Given the description of an element on the screen output the (x, y) to click on. 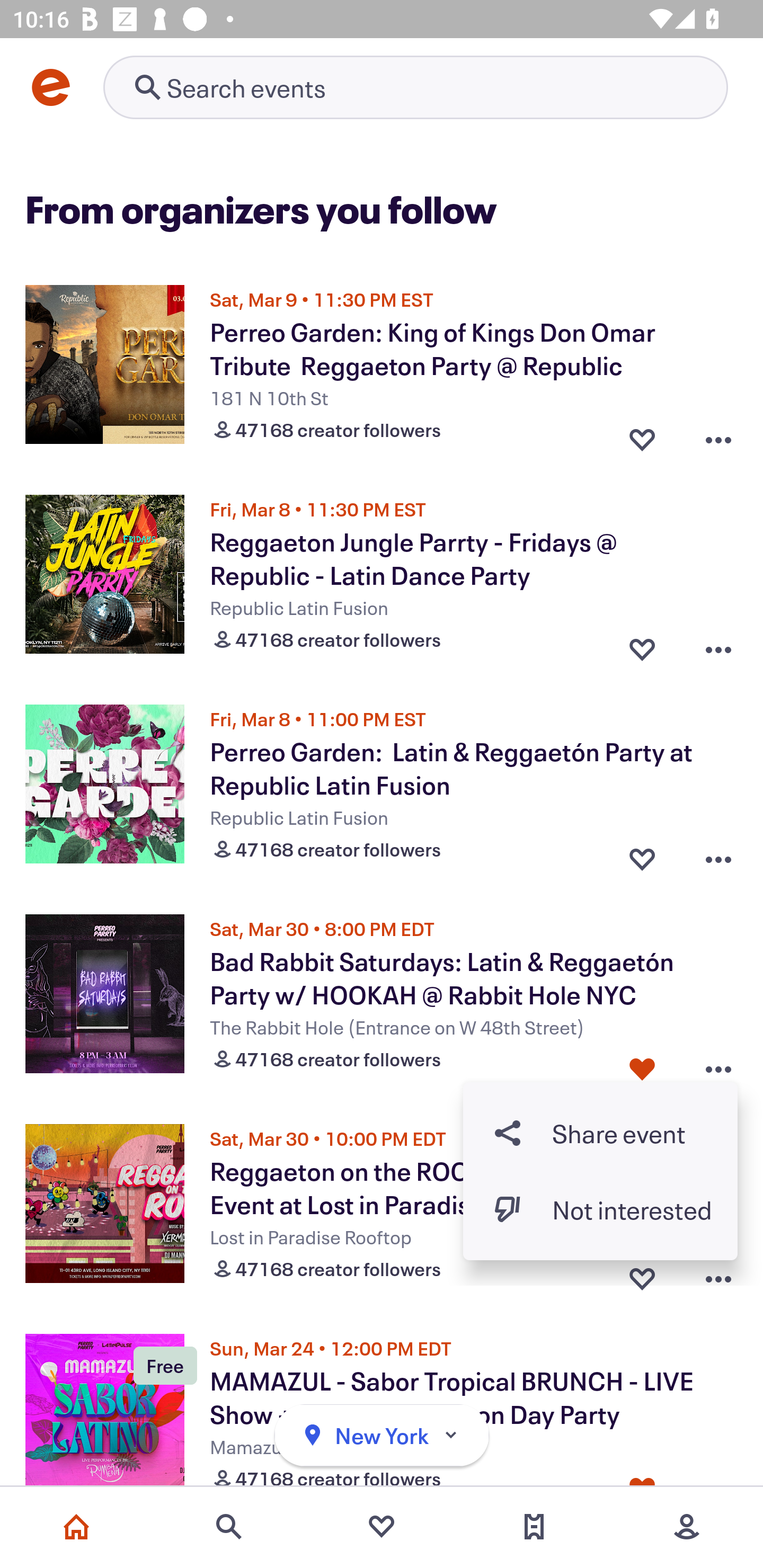
Share button Share event (600, 1132)
Dislike event button Not interested (600, 1209)
